Given the description of an element on the screen output the (x, y) to click on. 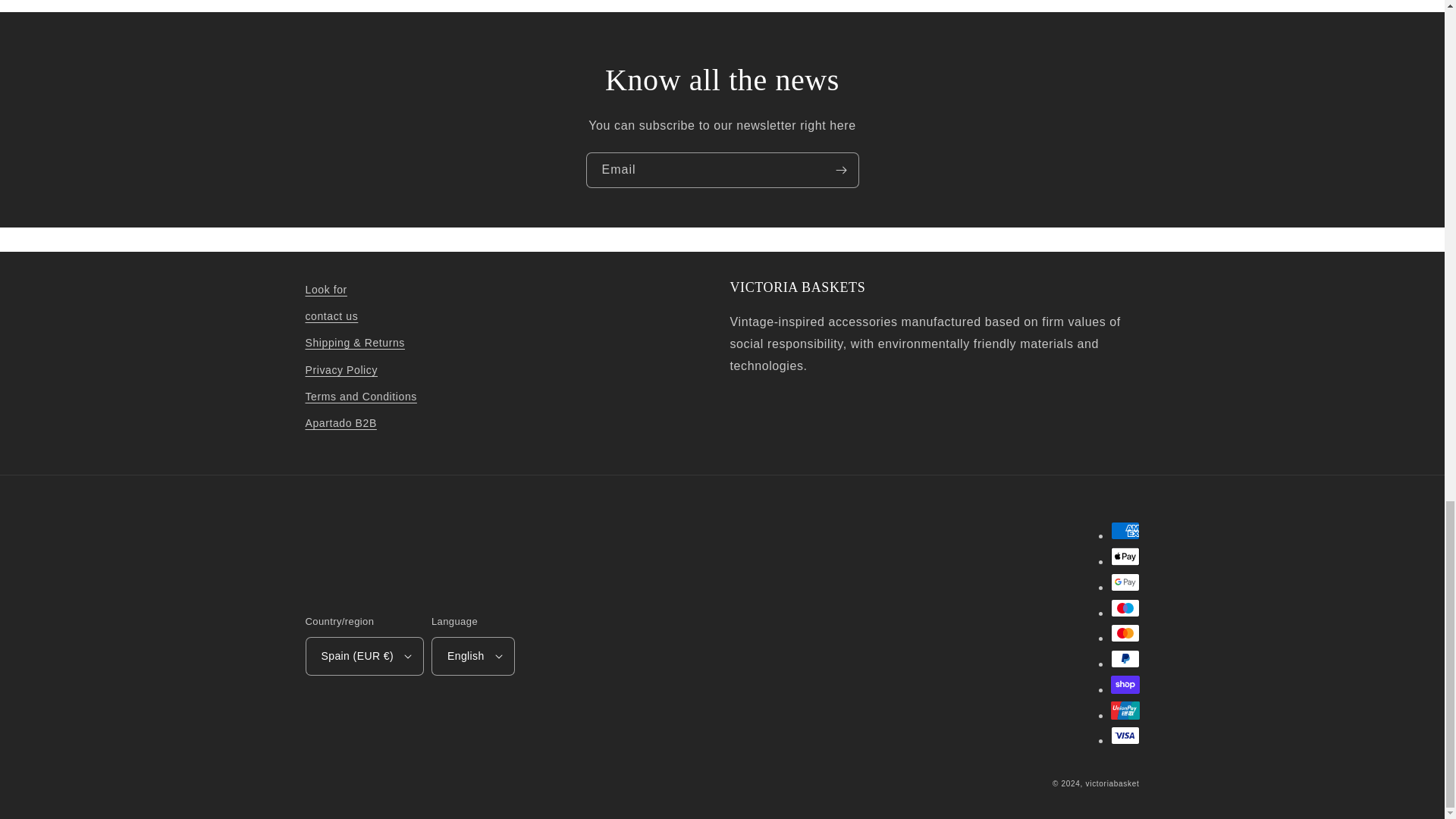
Maestro (1123, 607)
Mastercard (1123, 633)
PayPal (1123, 659)
Union Pay (1123, 710)
Apple Pay (1123, 556)
Shop Pay (1123, 684)
Google Pay (1123, 582)
Visa (1123, 735)
American Express (1123, 530)
